Given the description of an element on the screen output the (x, y) to click on. 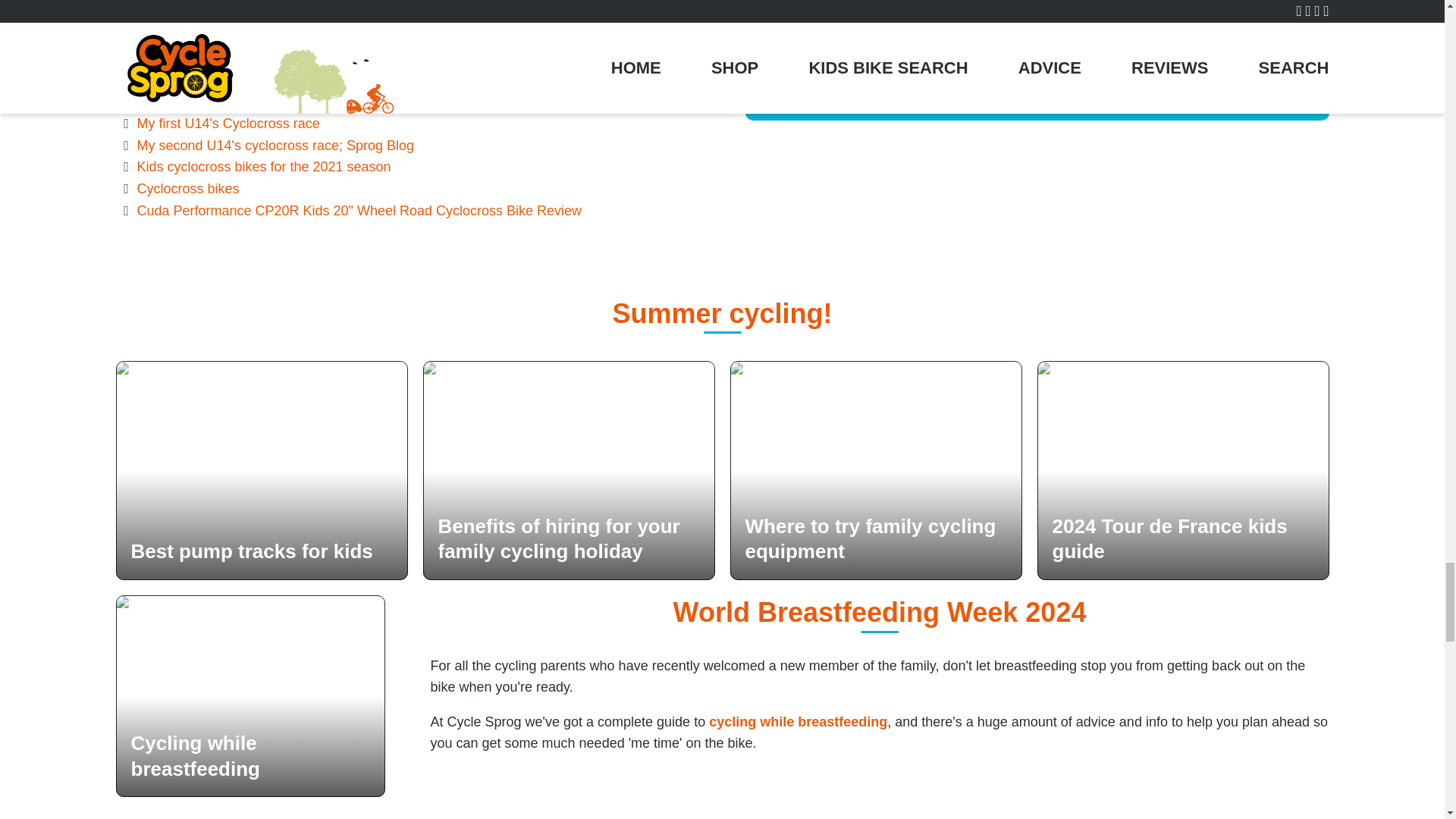
cycling while breastfeeding (797, 721)
My first U14's Cyclocross race (227, 123)
Benefits of hiring for your family cycling holiday (568, 470)
My second U14's cyclocross race; Sprog Blog (274, 145)
Cycling while breastfeeding (249, 695)
Best pump tracks for kids (261, 470)
Cyclocross bikes (187, 188)
2024 Tour de France kids guide (1182, 470)
Where to try family cycling equipment (875, 470)
